Given the description of an element on the screen output the (x, y) to click on. 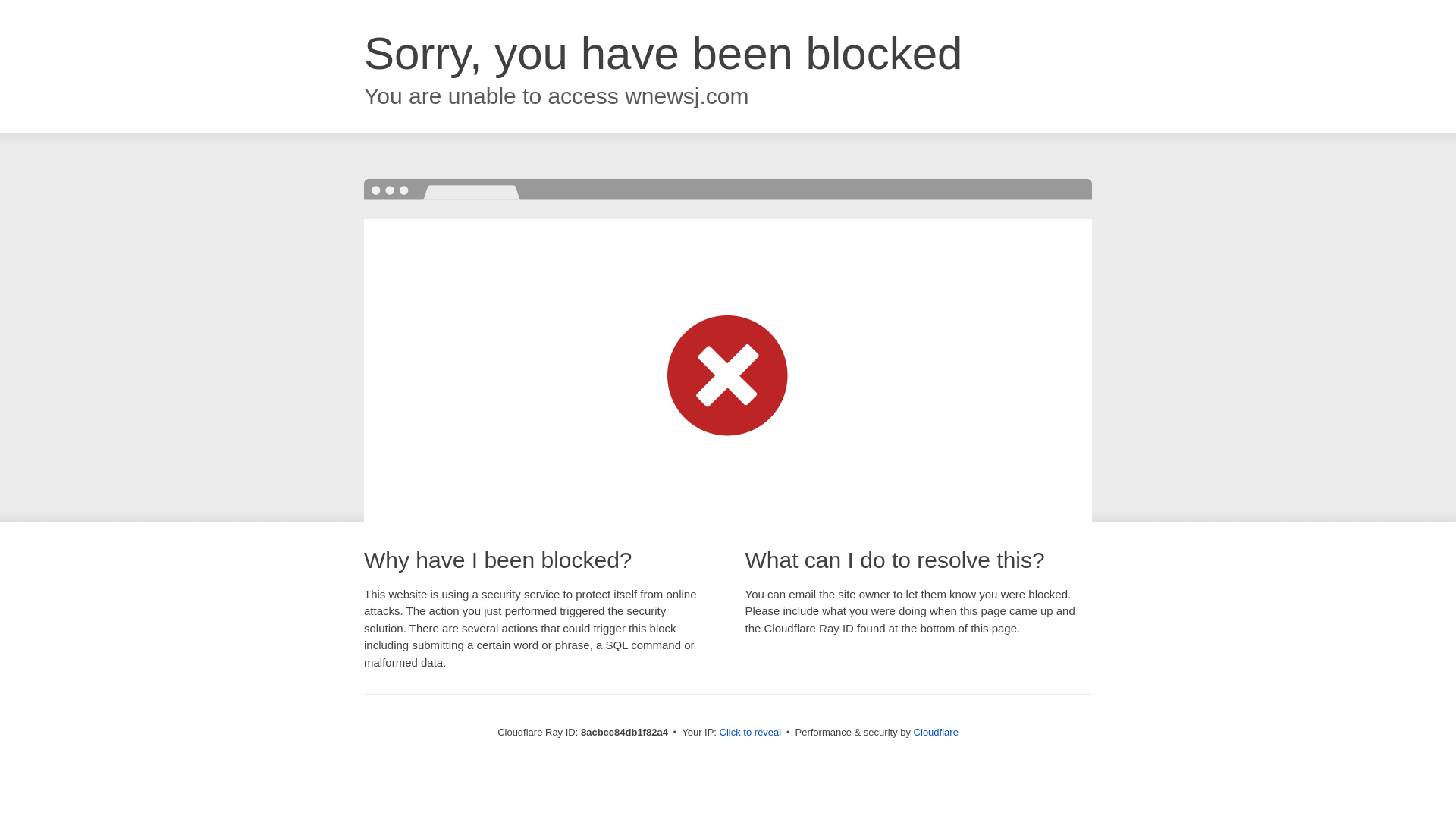
Click to reveal (750, 732)
Cloudflare (936, 731)
